Given the description of an element on the screen output the (x, y) to click on. 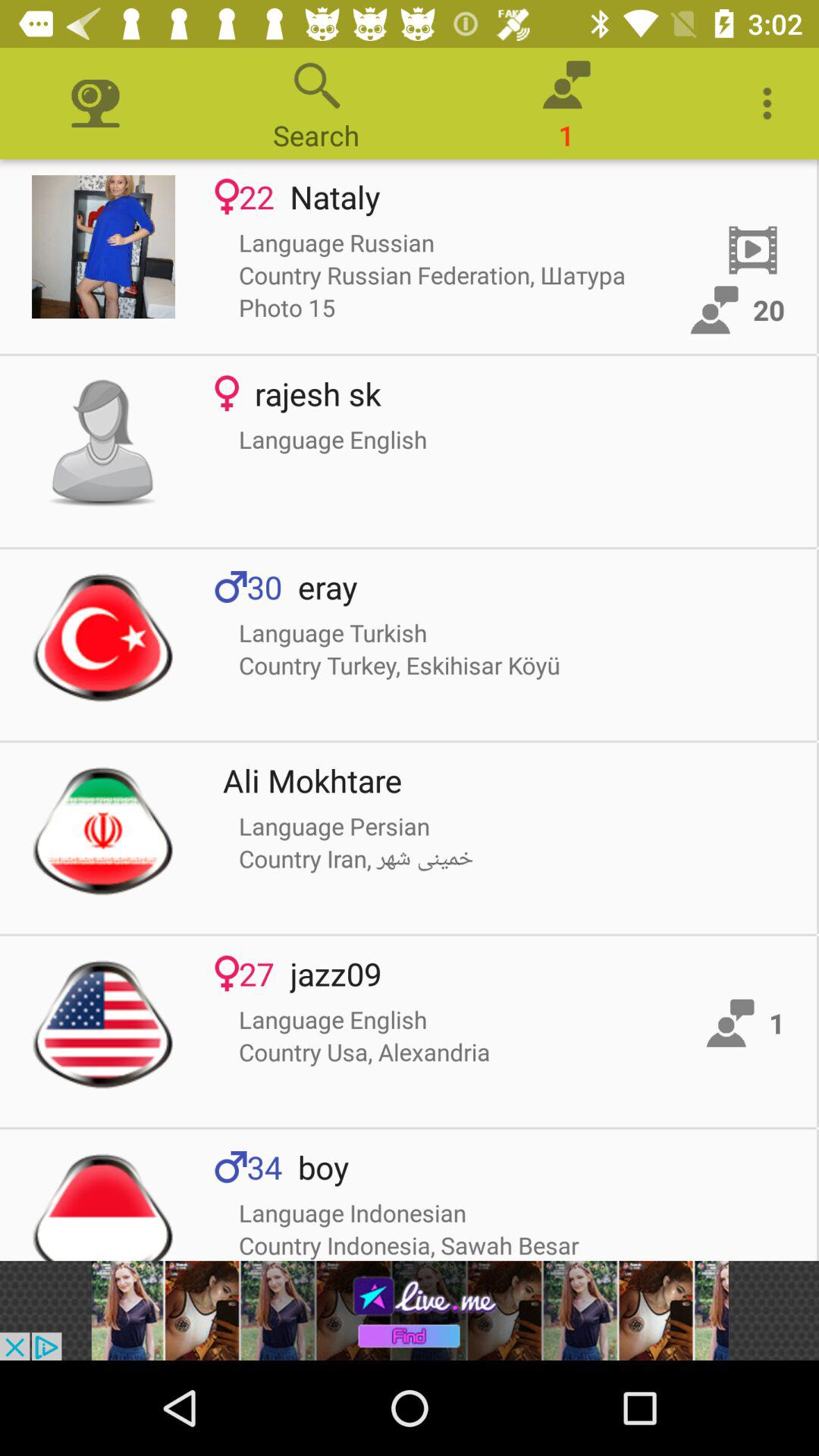
avater icon (103, 443)
